Given the description of an element on the screen output the (x, y) to click on. 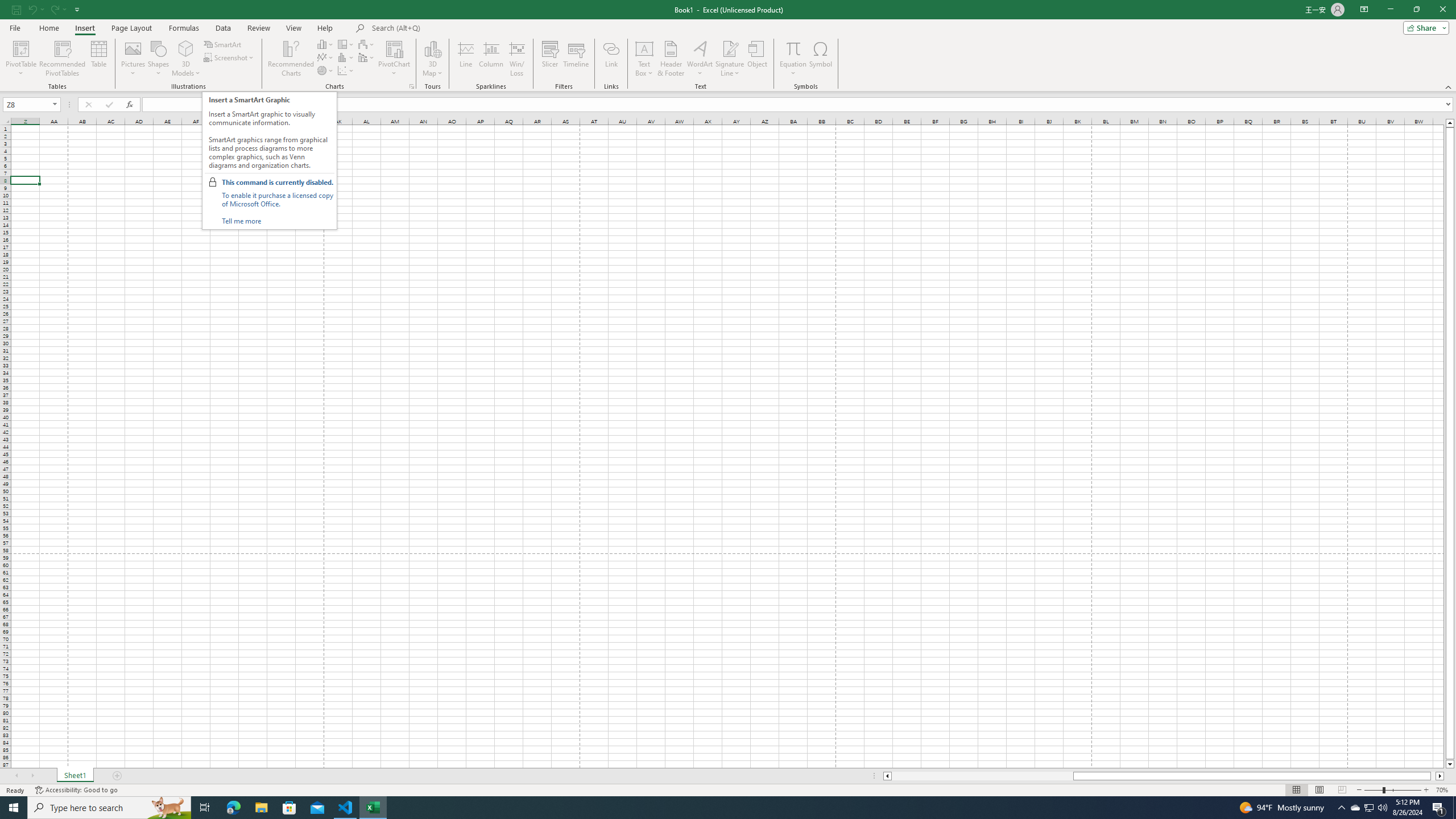
3D Map (432, 58)
Insert Pie or Doughnut Chart (325, 69)
3D Models (186, 48)
Redo (53, 9)
Equation (793, 58)
Class: MsoCommandBar (728, 45)
PivotChart (394, 48)
WordArt (699, 58)
Insert (83, 28)
Name Box (30, 104)
Win/Loss (516, 58)
Insert Statistic Chart (346, 56)
Page left (982, 775)
